Given the description of an element on the screen output the (x, y) to click on. 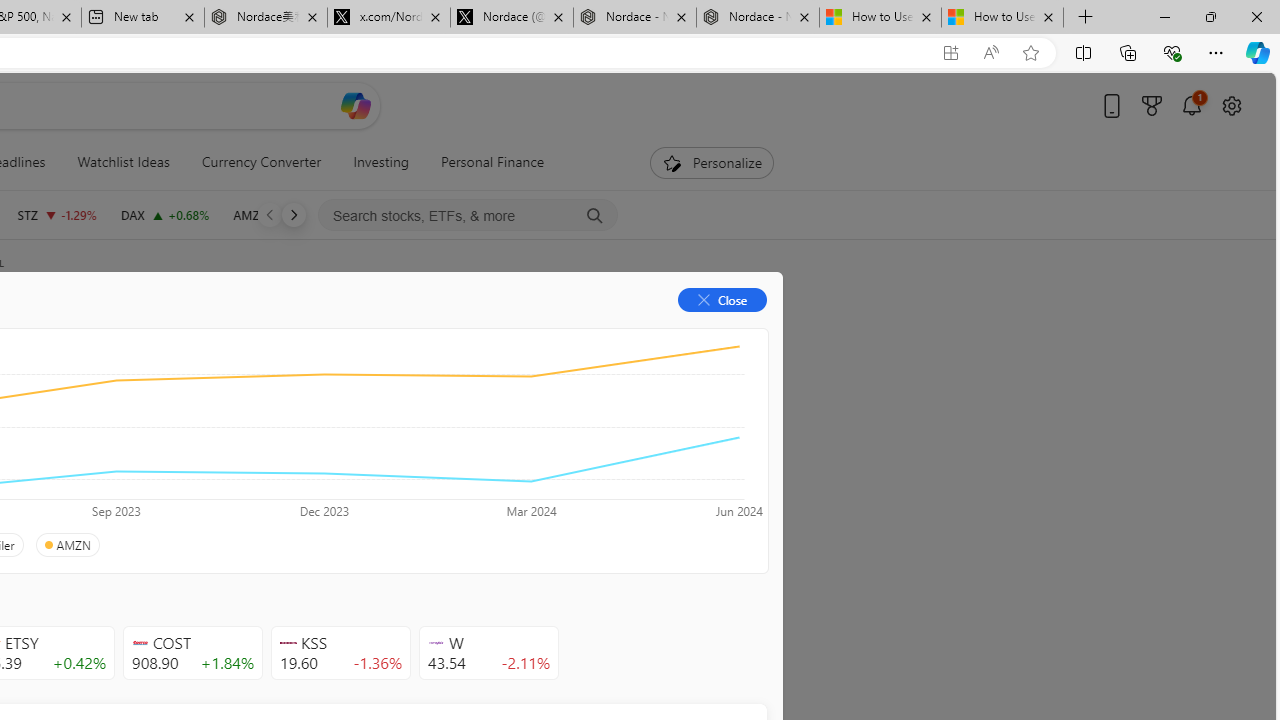
Class: text-DS-EntryPoint1-3 (281, 446)
STZ CONSTELLATION BRANDS, INC. decrease 239.98 -3.13 -1.29% (56, 214)
How to Use a Monitor With Your Closed Laptop (1002, 17)
Personal Finance (484, 162)
Close (1256, 16)
Collections (1128, 52)
Class: autoSuggestIcon-DS-EntryPoint1-2 (436, 643)
New Tab (1085, 17)
Personalize (711, 162)
Currency Converter (261, 162)
Next (293, 214)
Investing (381, 162)
